Given the description of an element on the screen output the (x, y) to click on. 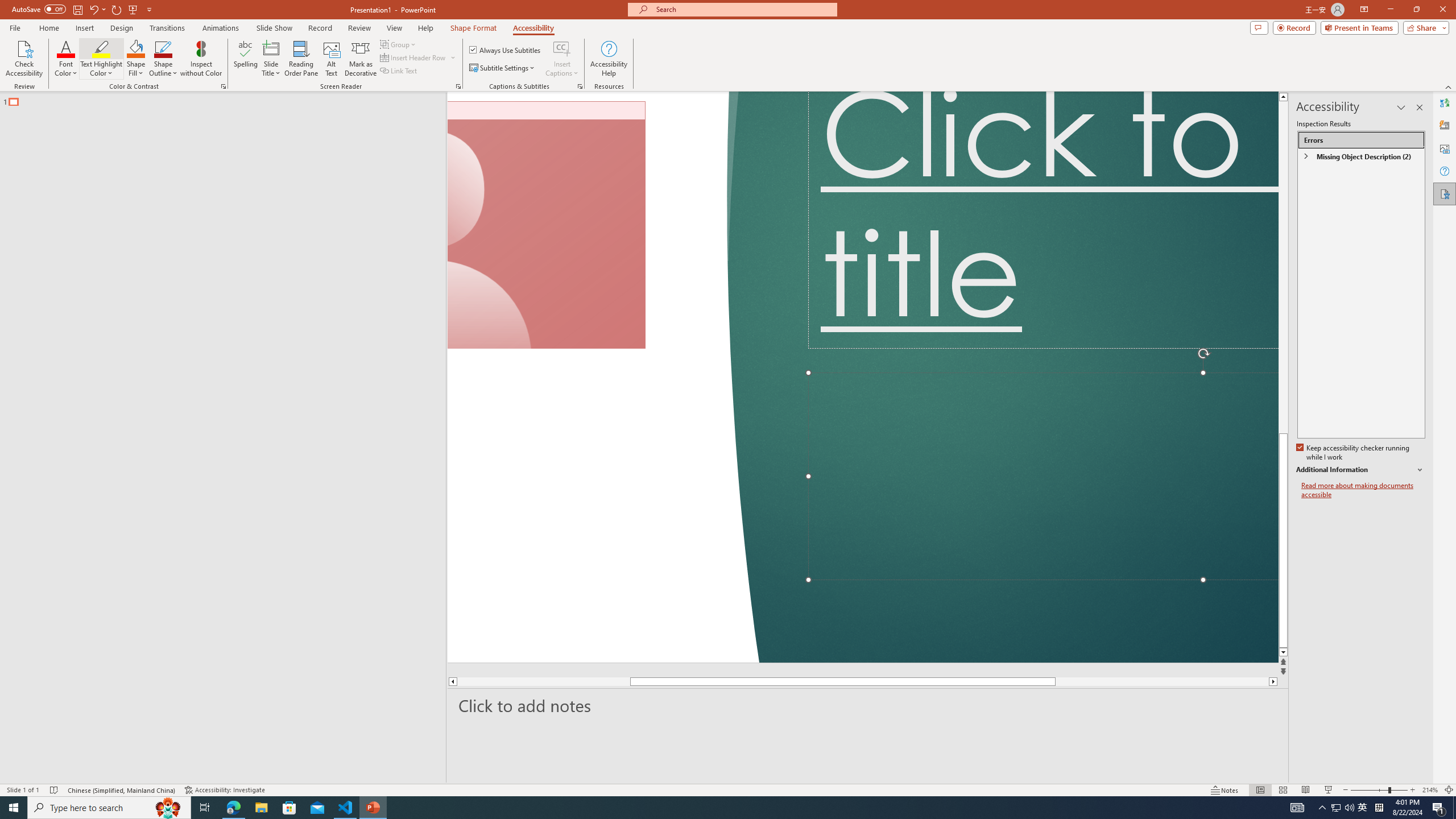
Accessibility Help (608, 58)
